Given the description of an element on the screen output the (x, y) to click on. 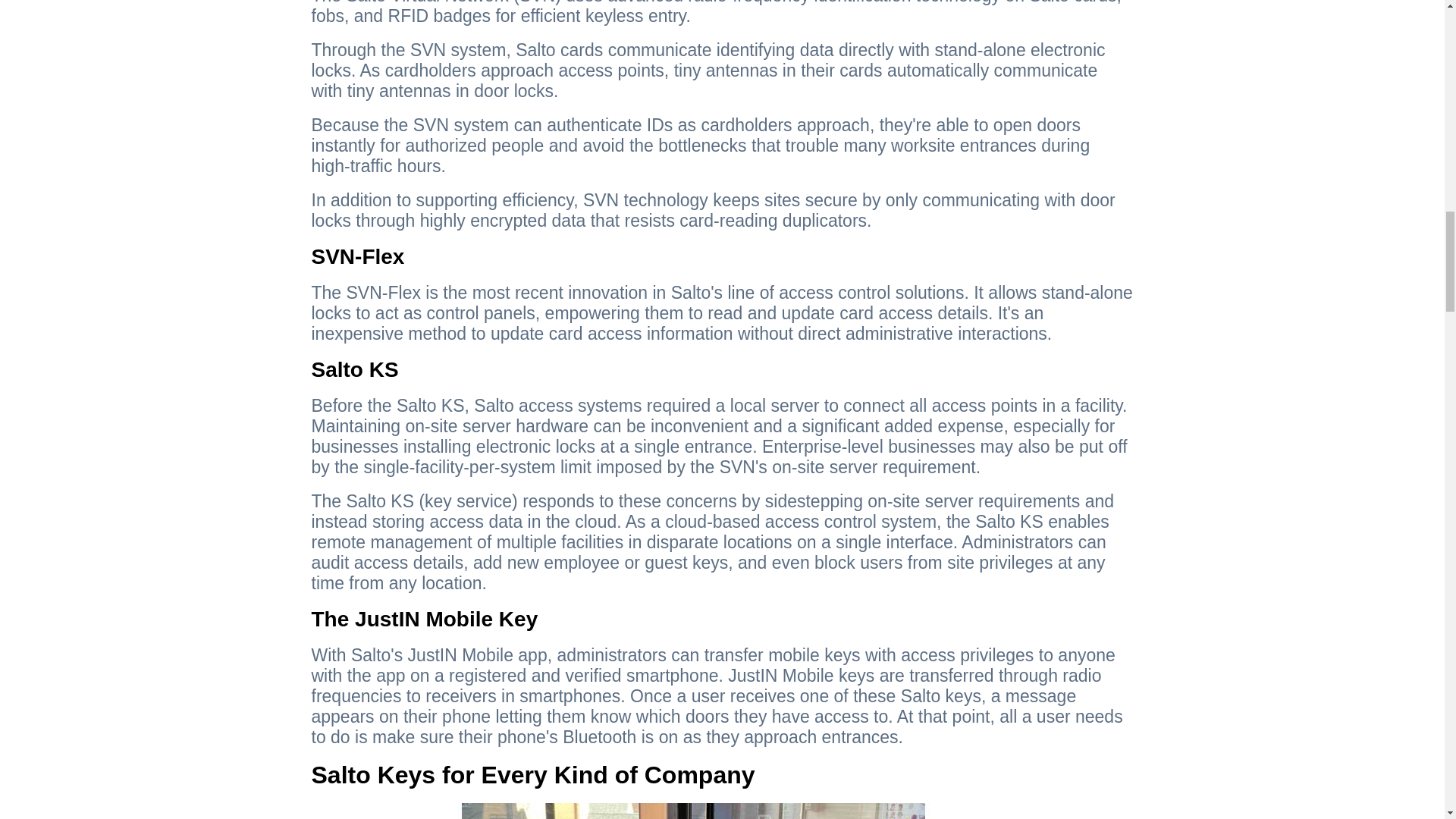
Salto locks for offices, multifamily buildings, and hotels (699, 811)
